Given the description of an element on the screen output the (x, y) to click on. 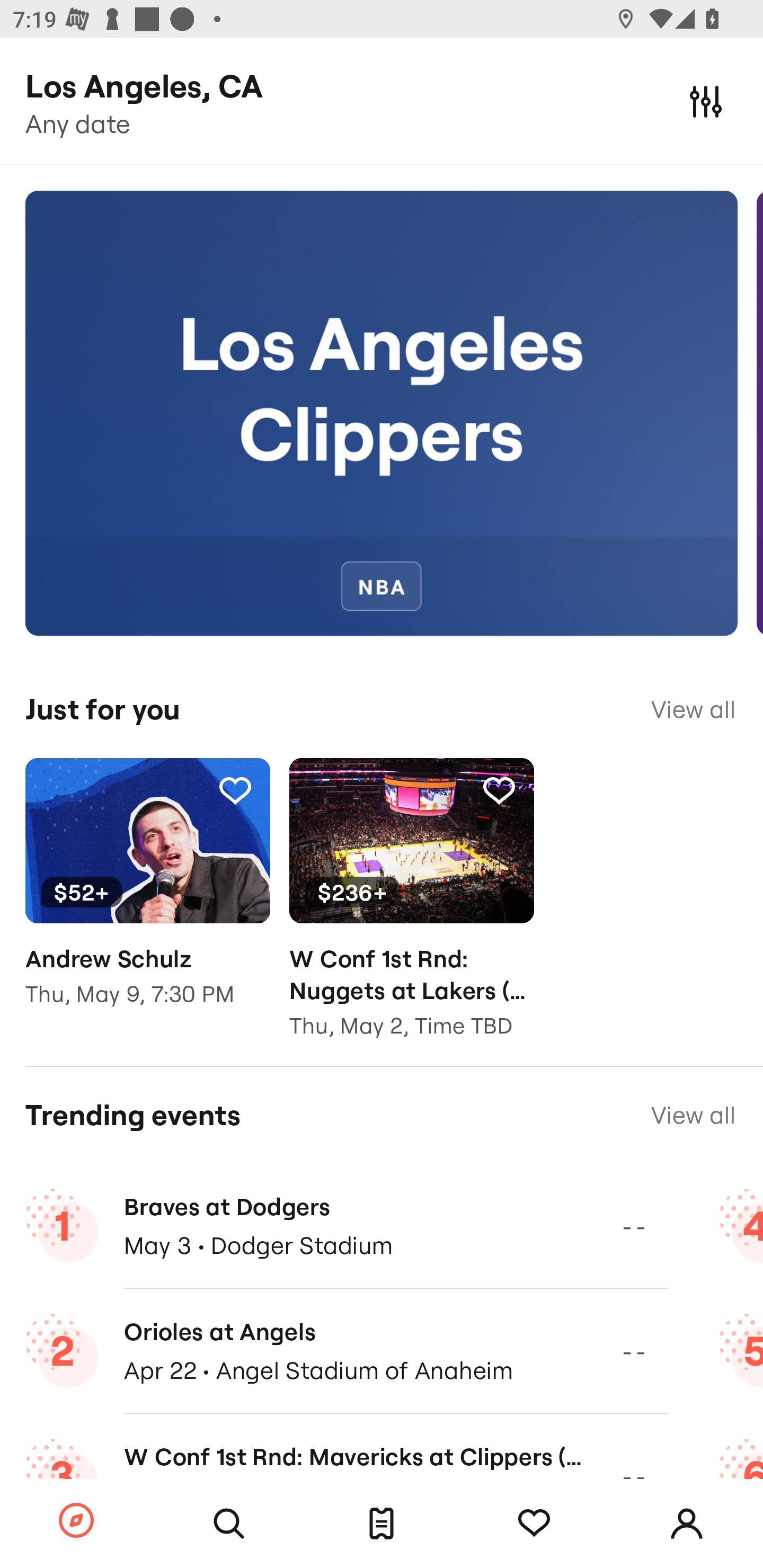
Filters (705, 100)
View all (693, 709)
Tracking $52+ Andrew Schulz Thu, May 9, 7:30 PM (147, 895)
Tracking (234, 790)
Tracking (498, 790)
View all (693, 1114)
Browse (76, 1521)
Search (228, 1523)
Tickets (381, 1523)
Tracking (533, 1523)
Account (686, 1523)
